Given the description of an element on the screen output the (x, y) to click on. 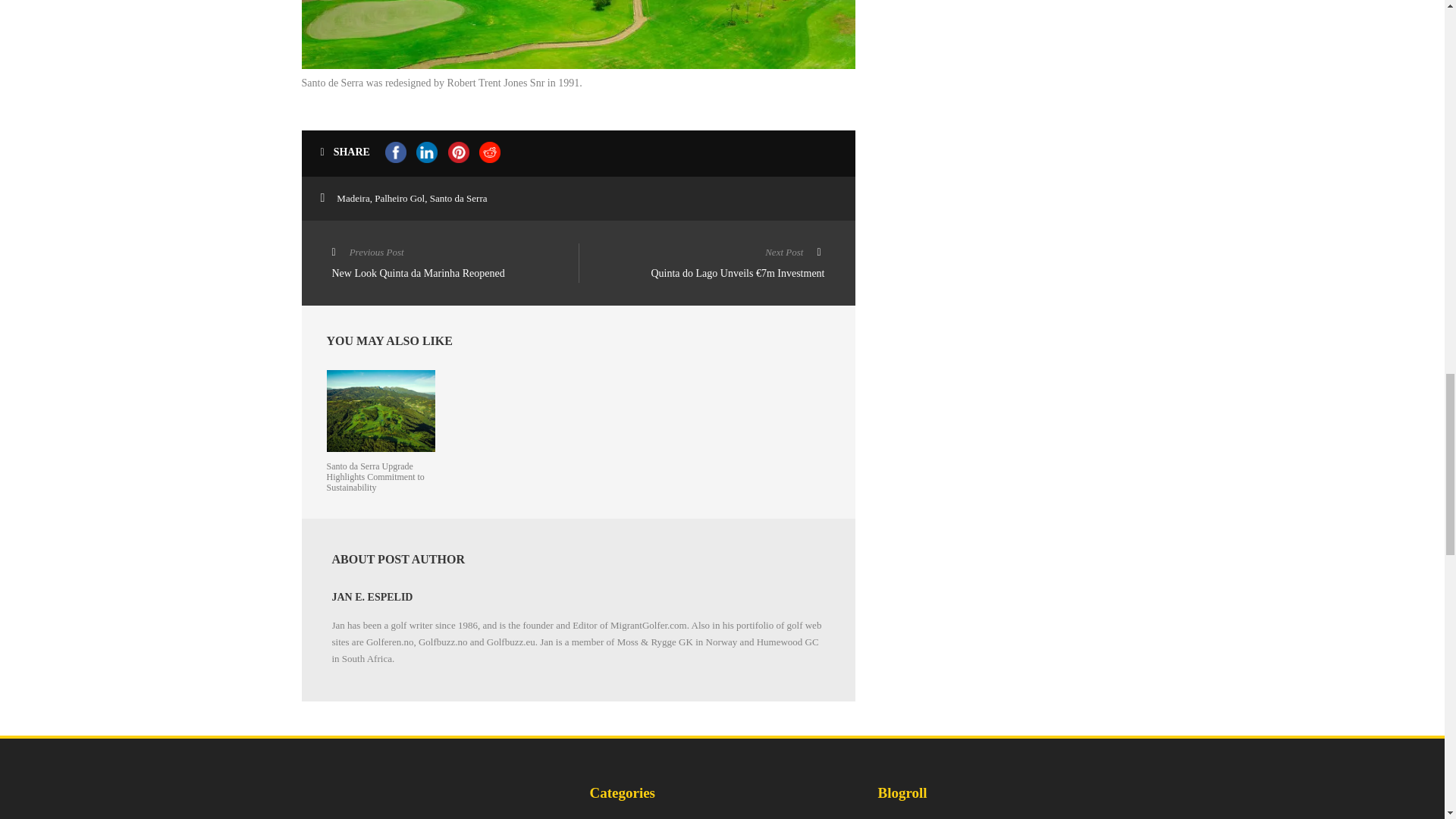
Madeira (352, 197)
Palheiro Gol (399, 197)
Posts by Jan E. Espelid (372, 596)
Santo da Serra (458, 197)
JAN E. ESPELID (454, 264)
